Given the description of an element on the screen output the (x, y) to click on. 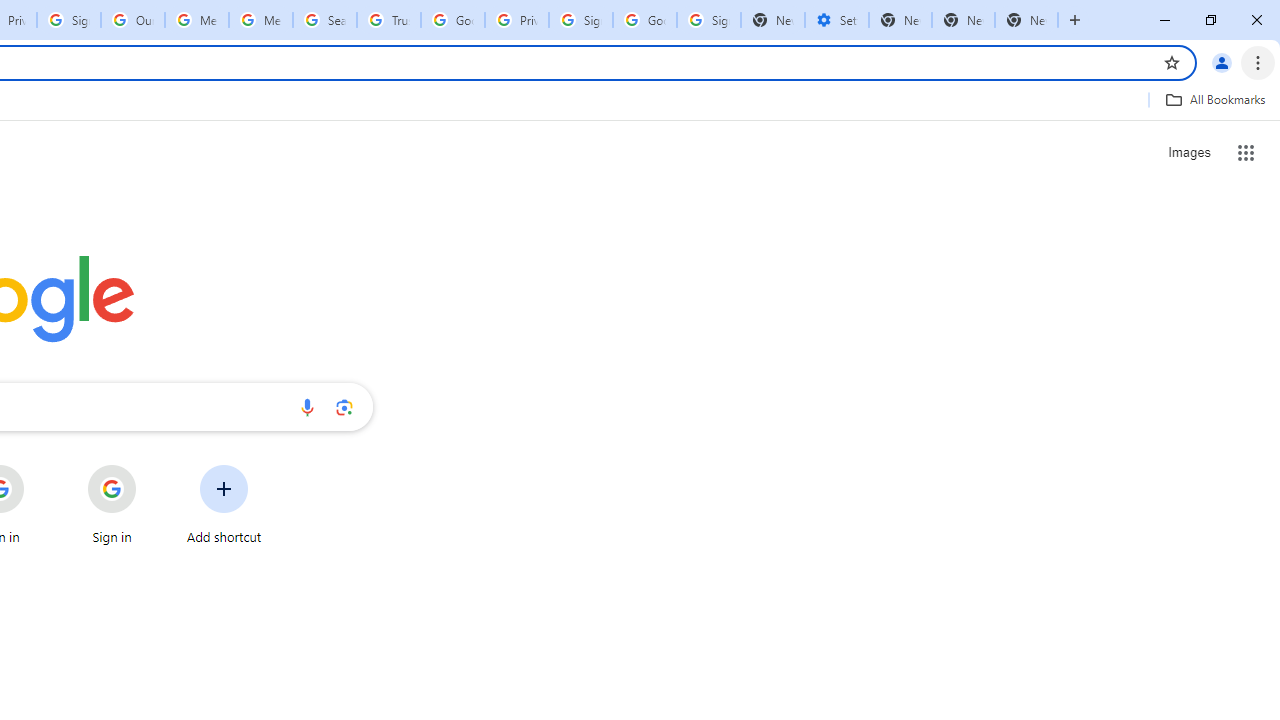
Minimize (1165, 20)
More actions for Sign in shortcut (152, 466)
Chrome (1260, 62)
Close (1256, 20)
Google Ads - Sign in (453, 20)
Trusted Information and Content - Google Safety Center (389, 20)
Sign in - Google Accounts (581, 20)
Search our Doodle Library Collection - Google Doodles (325, 20)
New Tab (1026, 20)
New Tab (900, 20)
Sign in - Google Accounts (709, 20)
Search for Images  (1188, 152)
